Given the description of an element on the screen output the (x, y) to click on. 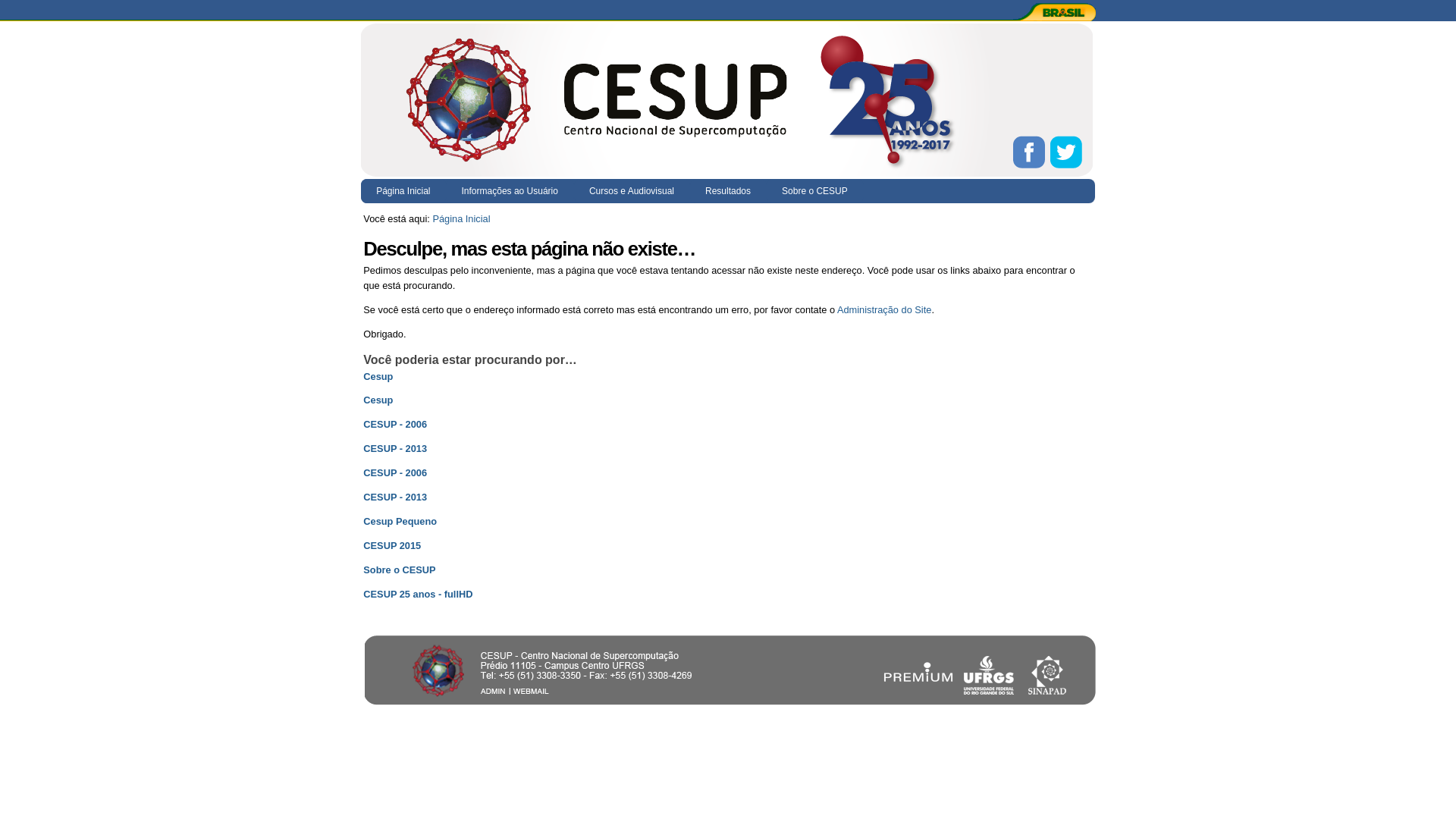
Cesup Element type: text (377, 375)
Cesup Element type: text (377, 399)
Sobre o CESUP Element type: text (399, 569)
CESUP - 2013 Element type: text (394, 448)
CESUP - 2013 Element type: text (394, 496)
CESUP 2015 Element type: text (391, 545)
Cesup Pequeno Element type: text (399, 521)
Resultados Element type: text (728, 190)
Sobre o CESUP Element type: text (814, 190)
CESUP - 2006 Element type: text (394, 472)
CESUP 25 anos - fullHD Element type: text (417, 593)
CESUP - 2006 Element type: text (394, 423)
Cursos e Audiovisual Element type: text (632, 190)
